Given the description of an element on the screen output the (x, y) to click on. 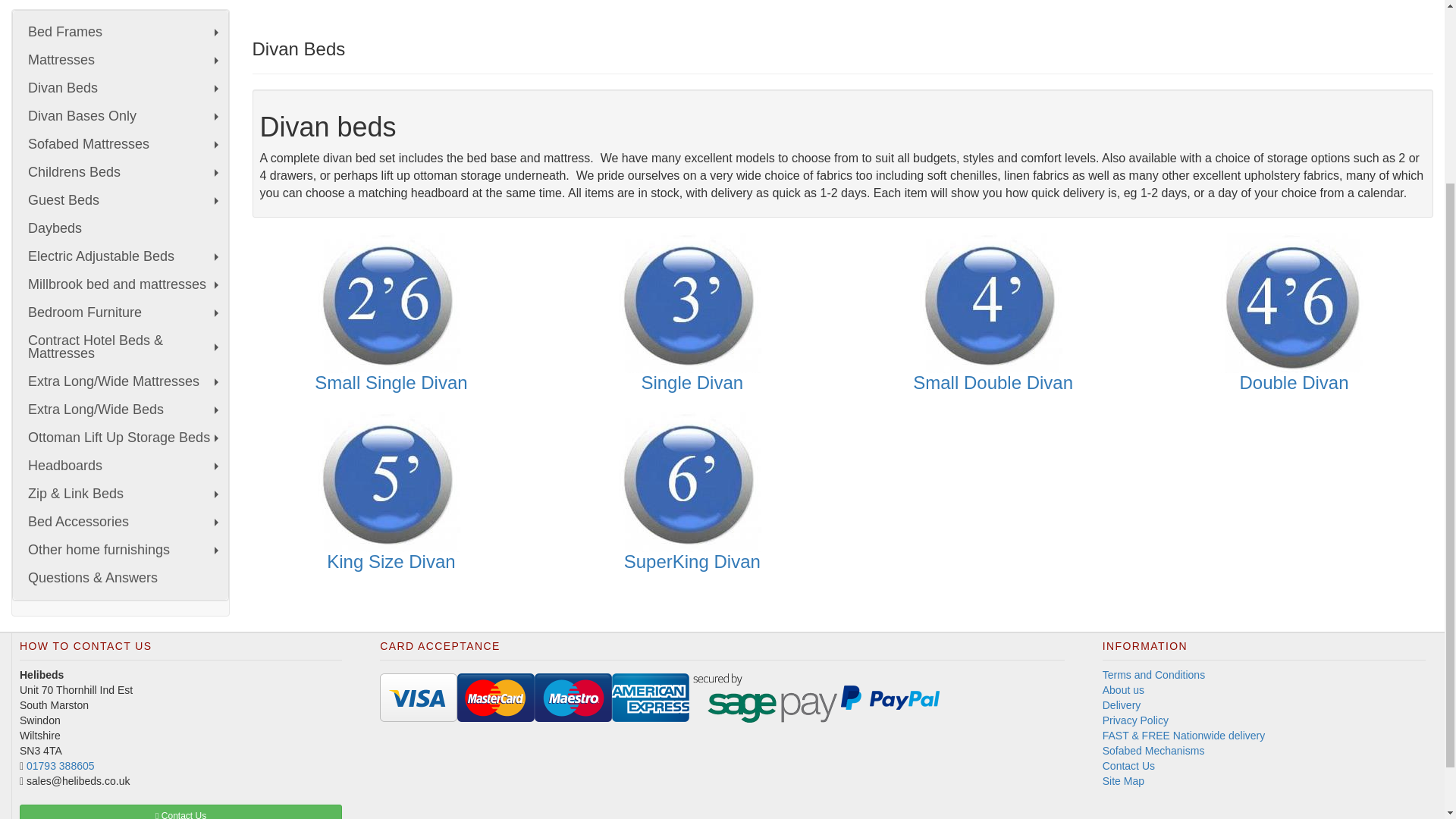
accepted cards (890, 697)
accepted cards (572, 697)
accepted cards (764, 697)
SuperKing Divan (691, 481)
Small Single Divan (390, 302)
accepted cards (418, 697)
King Size Divan (390, 481)
Single Divan (691, 302)
accepted cards (495, 697)
Small Double Divan (993, 302)
